Given the description of an element on the screen output the (x, y) to click on. 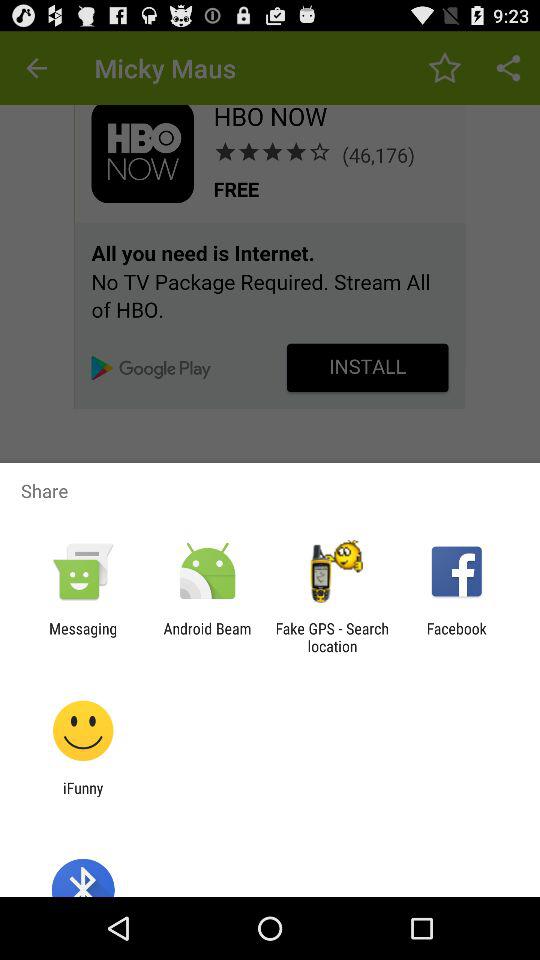
turn on the android beam (207, 637)
